Given the description of an element on the screen output the (x, y) to click on. 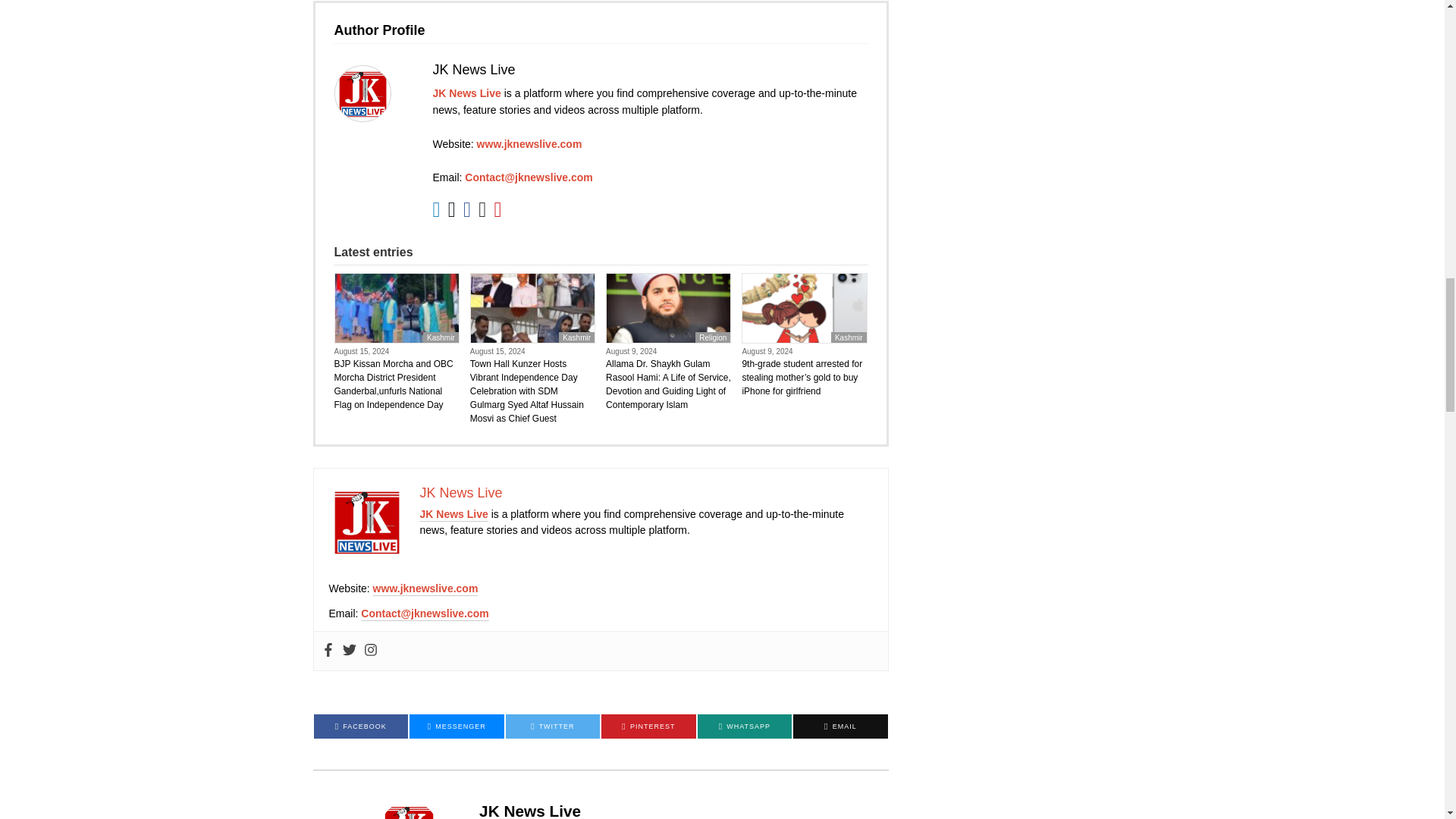
www.jknewslive.com (529, 143)
Kashmir (576, 337)
Kashmir (440, 337)
JK News Live (466, 92)
